Given the description of an element on the screen output the (x, y) to click on. 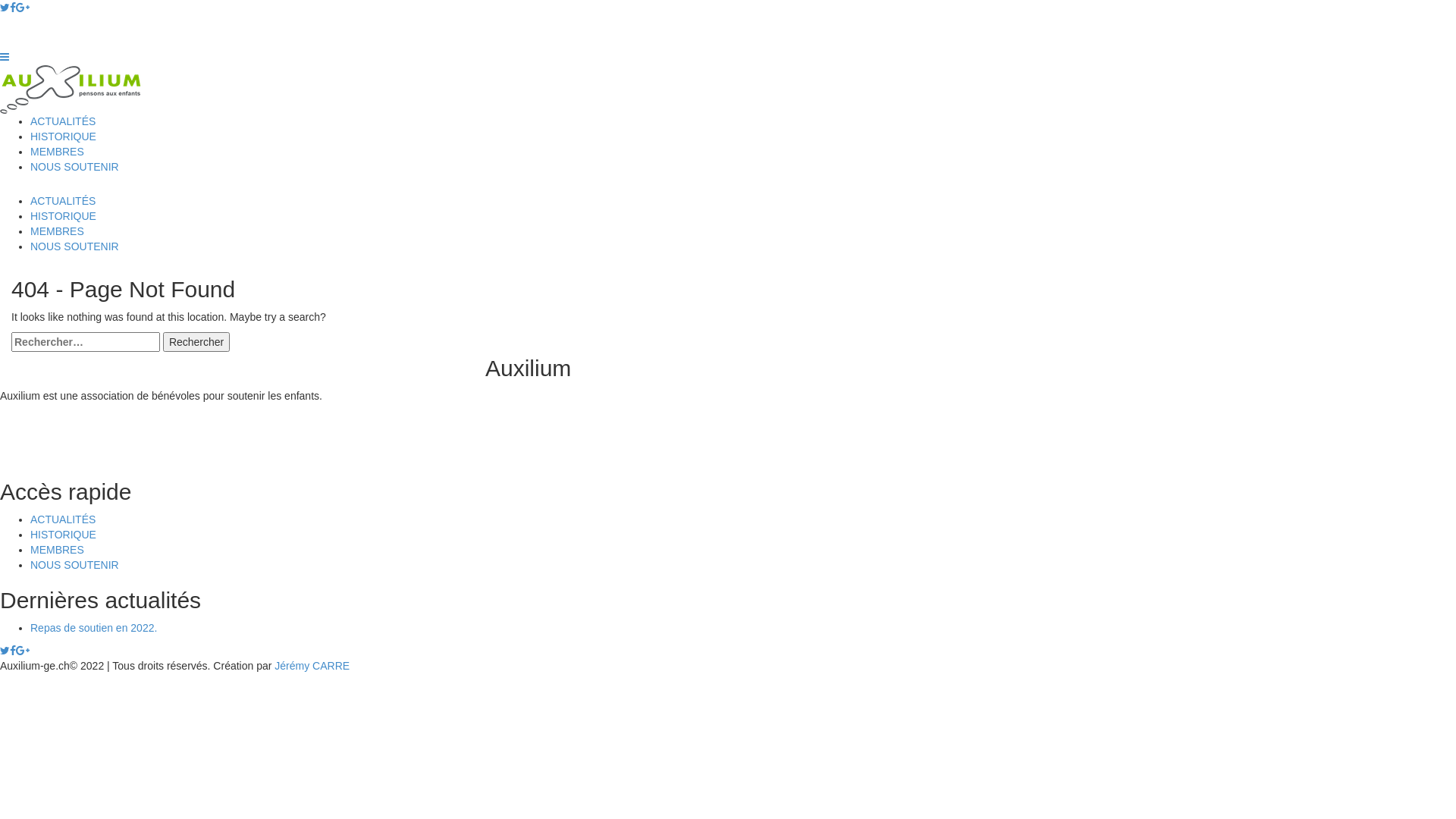
NOUS SOUTENIR Element type: text (74, 246)
HISTORIQUE Element type: text (63, 216)
MEMBRES Element type: text (57, 151)
MEMBRES Element type: text (57, 549)
NOUS SOUTENIR Element type: text (74, 166)
HISTORIQUE Element type: text (63, 136)
MEMBRES Element type: text (57, 231)
Repas de soutien en 2022. Element type: text (93, 627)
Rechercher Element type: text (196, 341)
NOUS SOUTENIR Element type: text (74, 564)
HISTORIQUE Element type: text (63, 534)
